Given the description of an element on the screen output the (x, y) to click on. 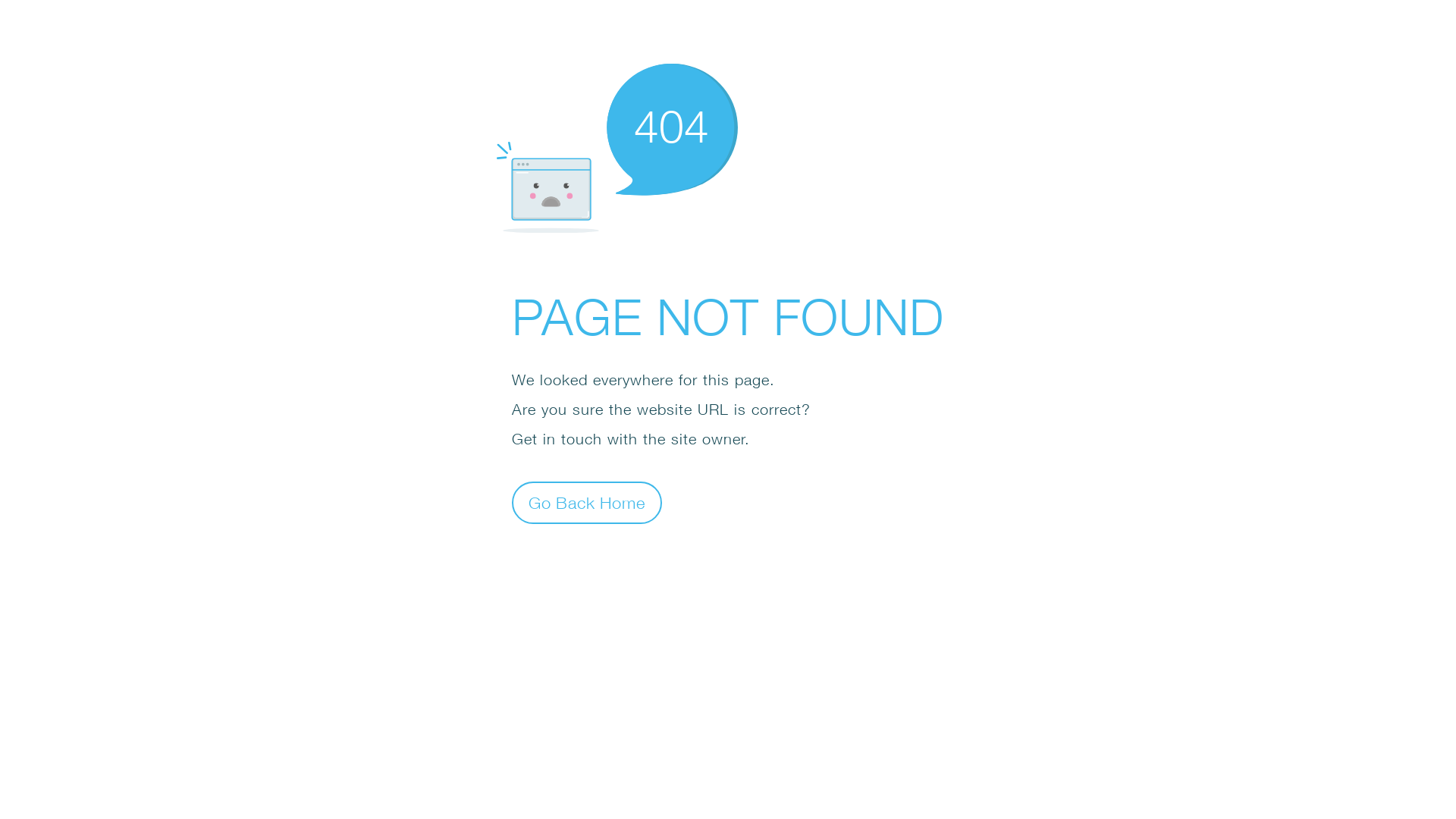
Go Back Home Element type: text (586, 502)
